Given the description of an element on the screen output the (x, y) to click on. 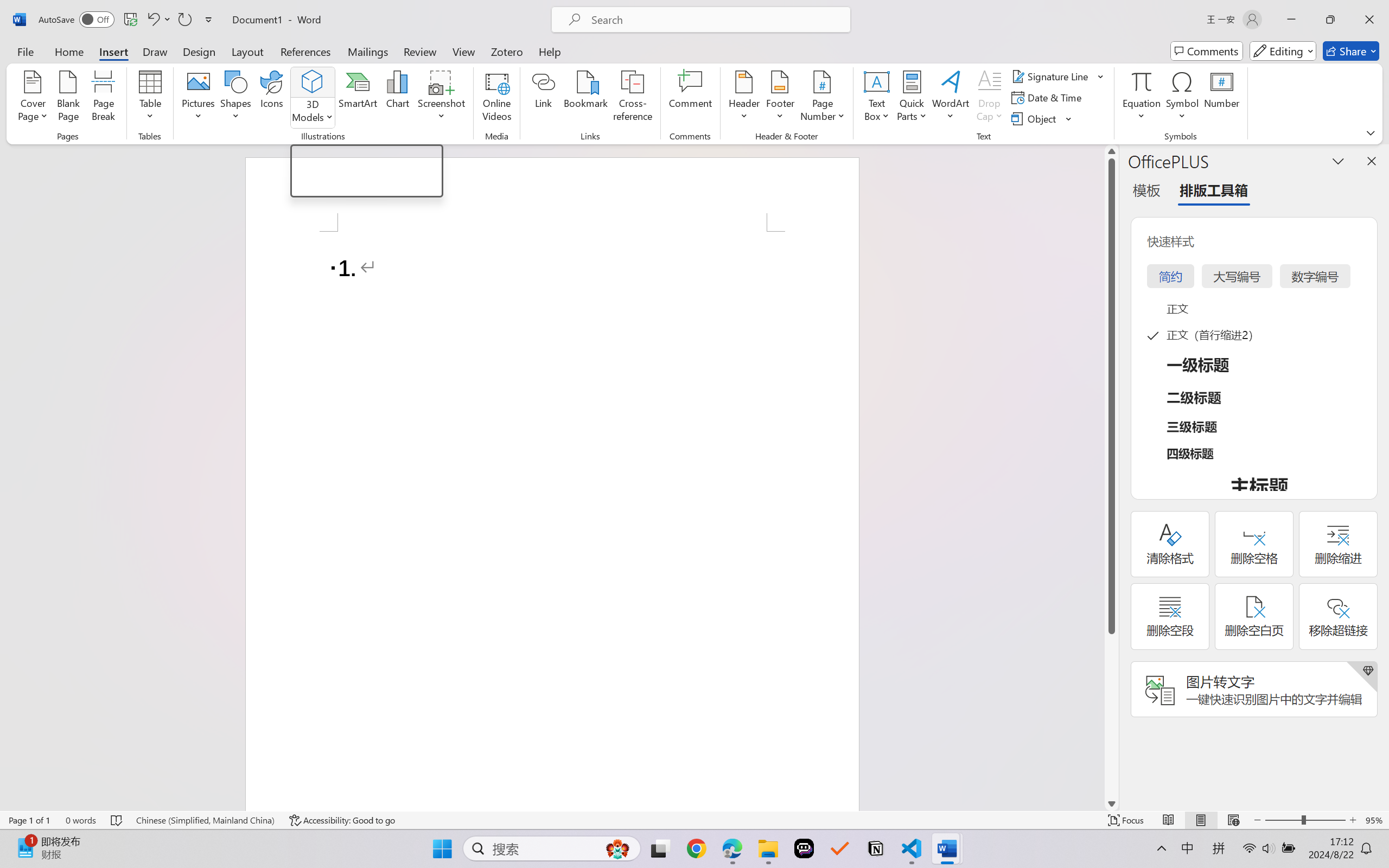
Date & Time... (1048, 97)
Language Chinese (Simplified, Mainland China) (205, 819)
Shapes (235, 97)
Equation (1141, 81)
Pictures (198, 97)
